Given the description of an element on the screen output the (x, y) to click on. 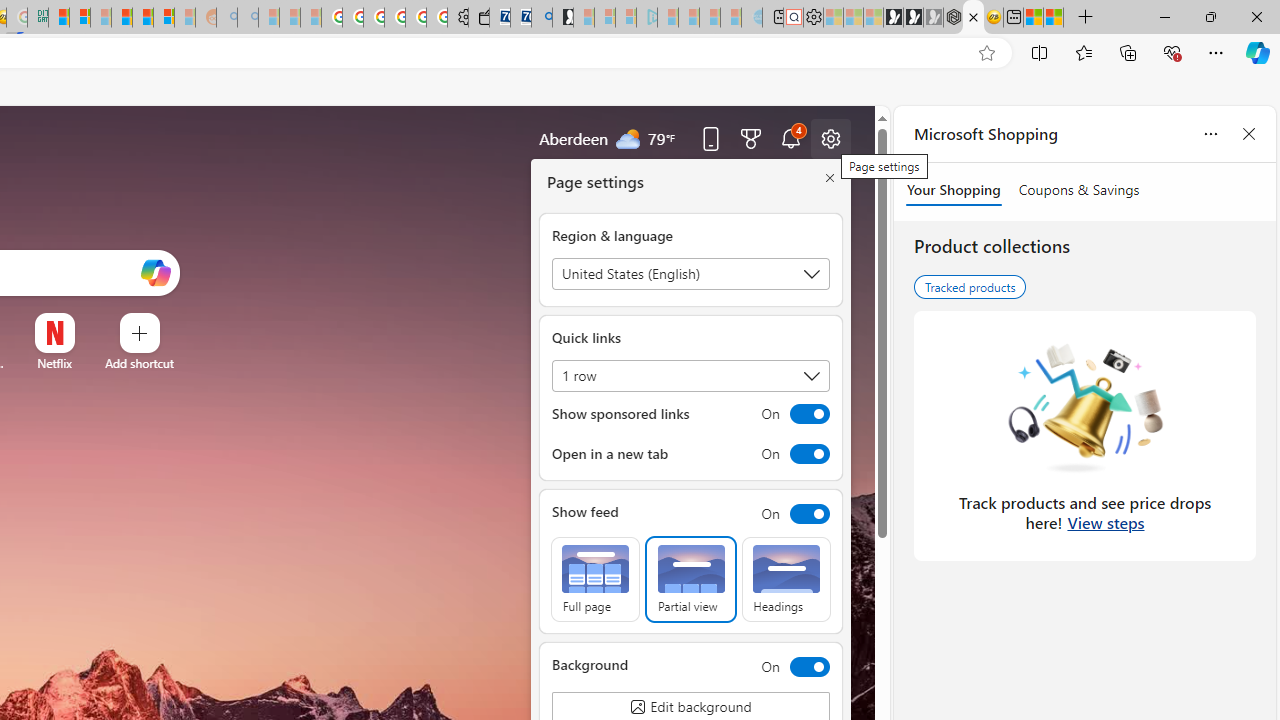
Home | Sky Blue Bikes - Sky Blue Bikes - Sleeping (751, 17)
Show sponsored links On (690, 413)
